Given the description of an element on the screen output the (x, y) to click on. 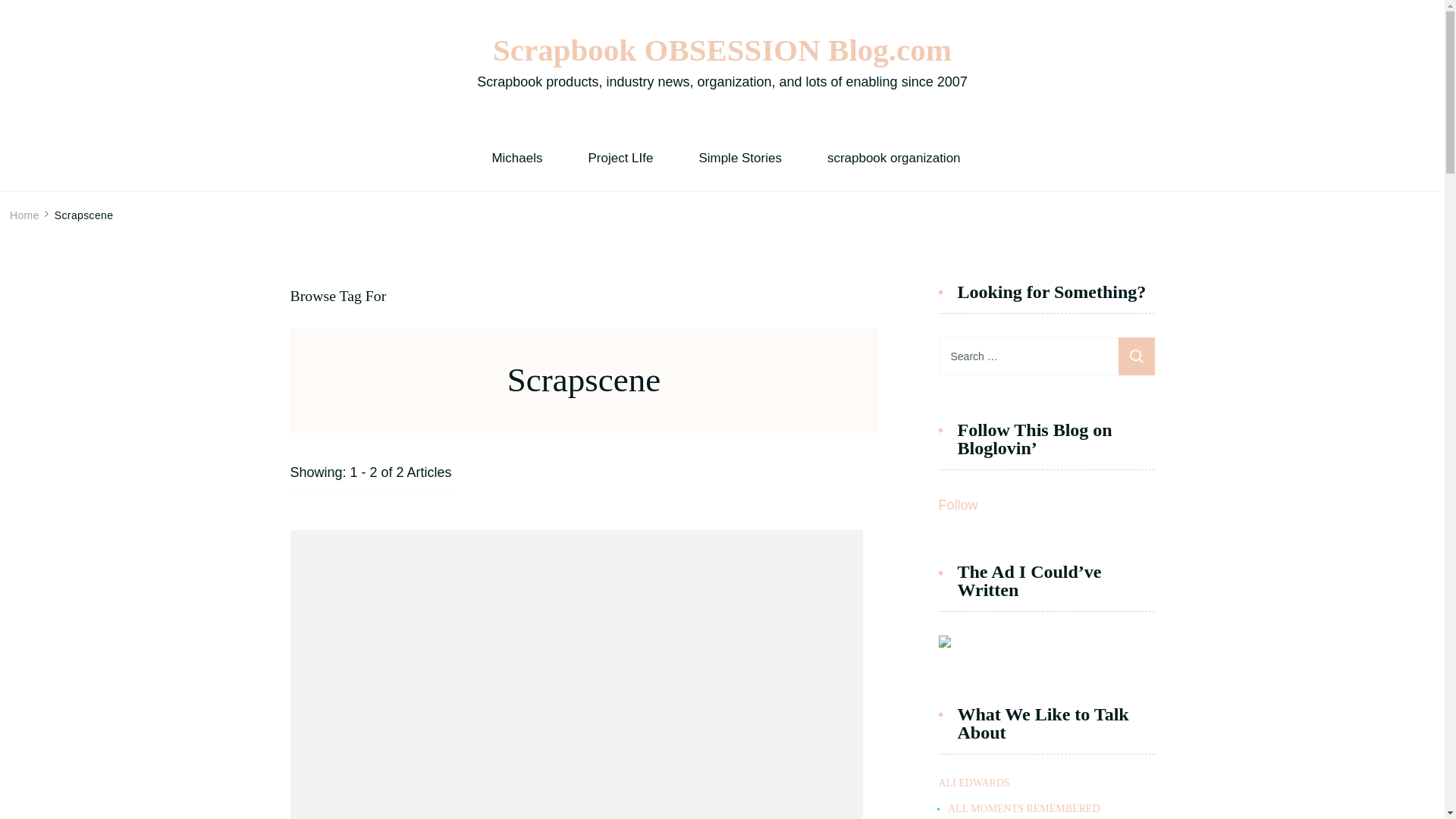
Simple Stories (739, 157)
scrapbook organization (893, 157)
Home (24, 215)
Scrapscene (84, 215)
Search (1136, 356)
Search (1136, 356)
Scrapbook OBSESSION Blog.com (722, 50)
Michaels (516, 157)
Project LIfe (620, 157)
